Given the description of an element on the screen output the (x, y) to click on. 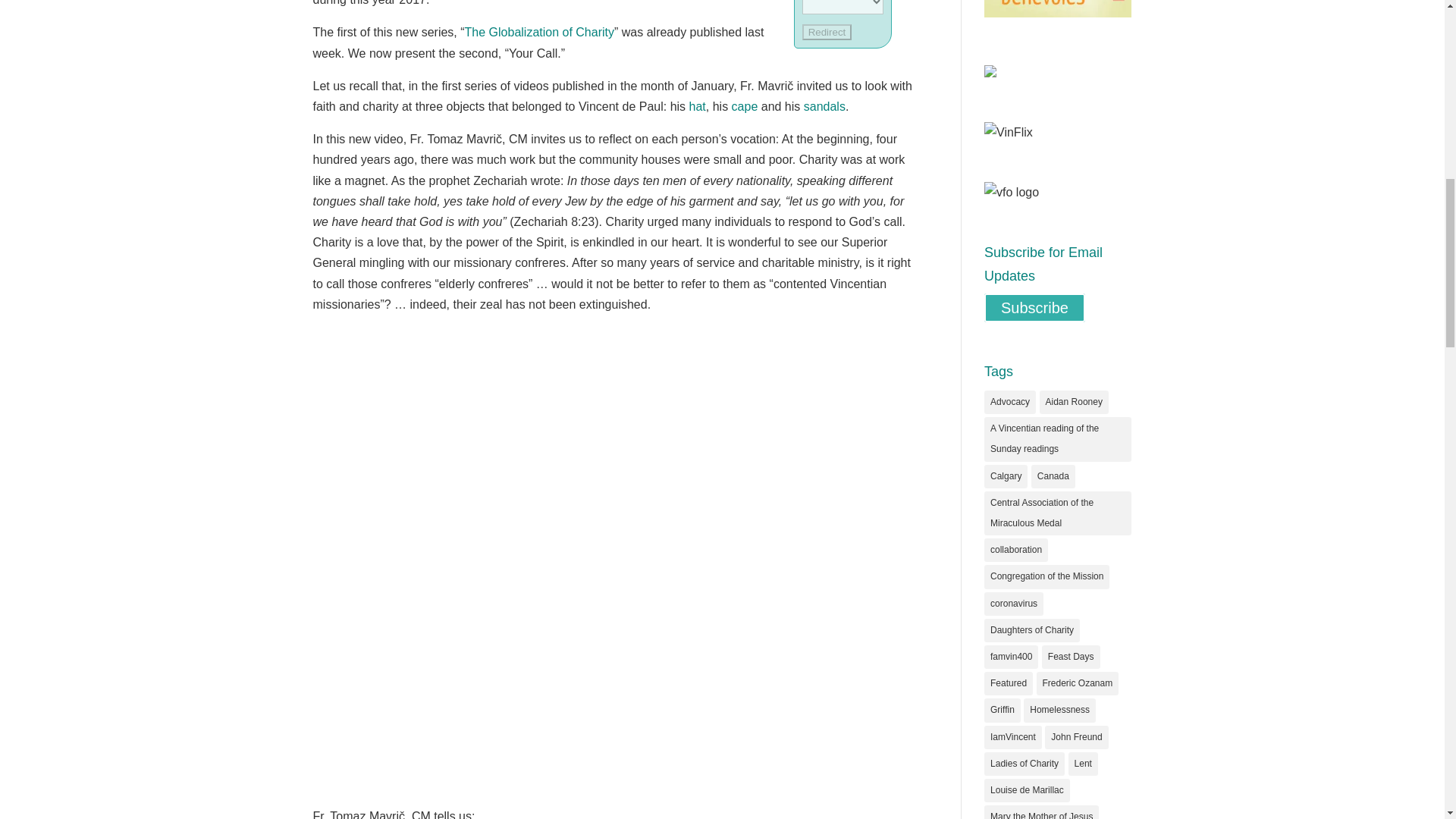
Redirect (826, 32)
